Given the description of an element on the screen output the (x, y) to click on. 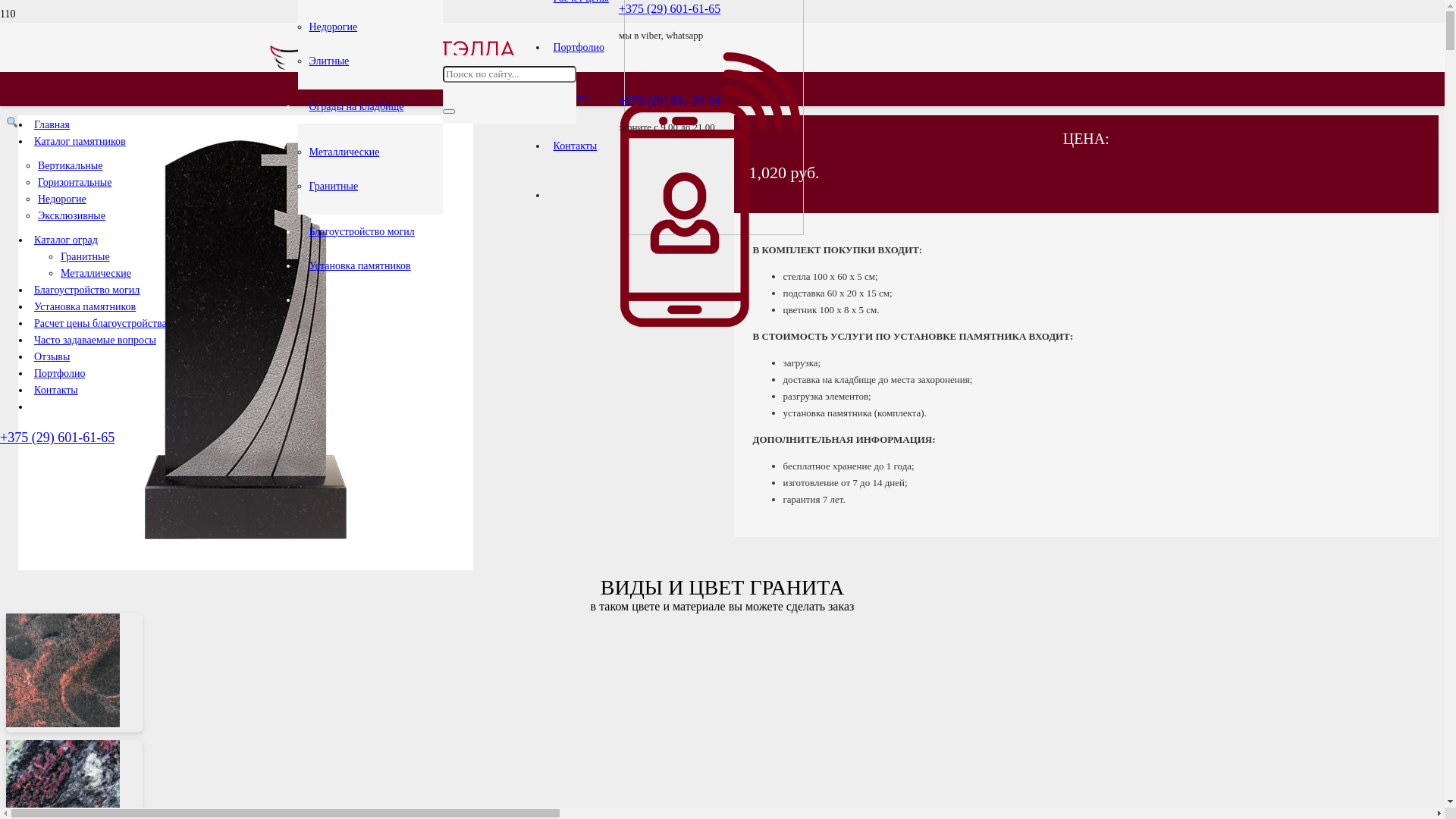
+375 (29) 601-61-65 Element type: text (669, 8)
+375 (29) 531-39-84 Element type: text (669, 100)
+375 (29) 601-61-65 Element type: text (57, 437)
